Given the description of an element on the screen output the (x, y) to click on. 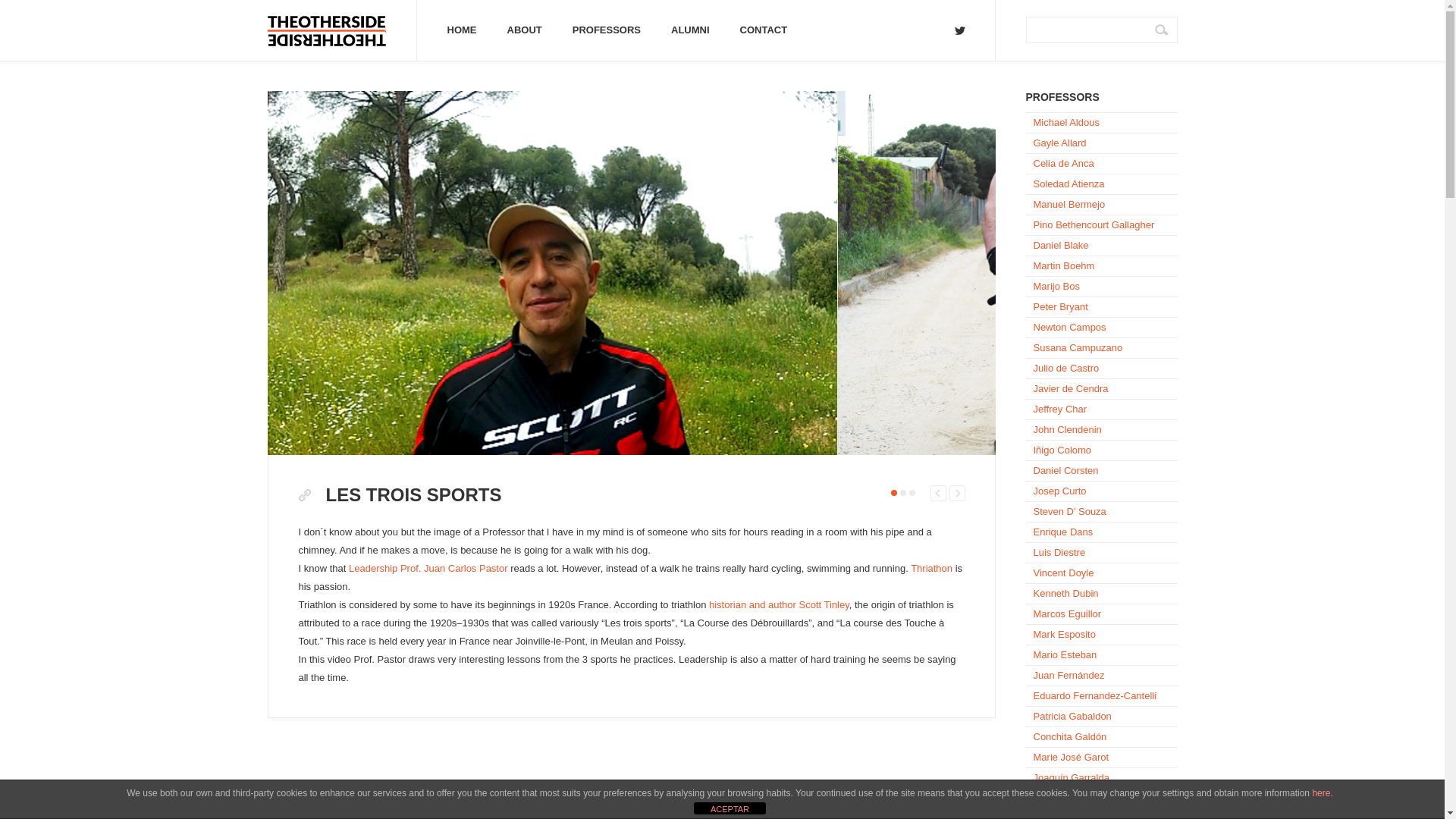
Marijo Bos (1100, 285)
John Clendenin (1100, 428)
CONTACT (764, 30)
Enrique Dans (1100, 531)
Jeffrey Char (1100, 408)
Luis Diestre (1100, 551)
Mario Esteban (1100, 654)
Daniel Corsten (1100, 469)
Kenneth Dubin (1100, 592)
Michael Aldous (1100, 121)
Vincent Doyle (1100, 572)
Manuel Bermejo (1100, 203)
Susana Campuzano (1100, 347)
Gayle Allard (1100, 142)
Scott Tinley (778, 604)
